Given the description of an element on the screen output the (x, y) to click on. 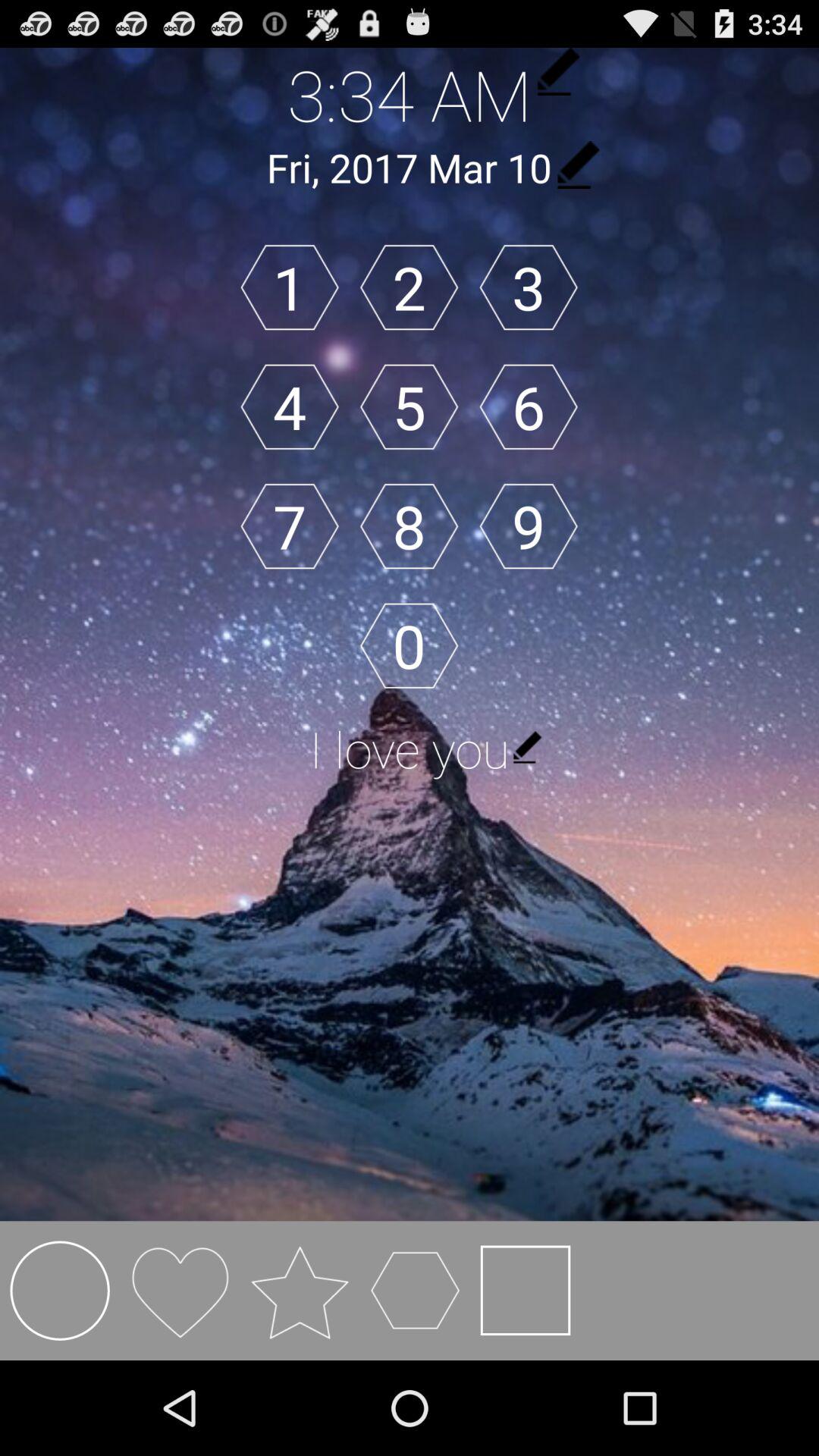
swipe to the 5 icon (408, 406)
